Given the description of an element on the screen output the (x, y) to click on. 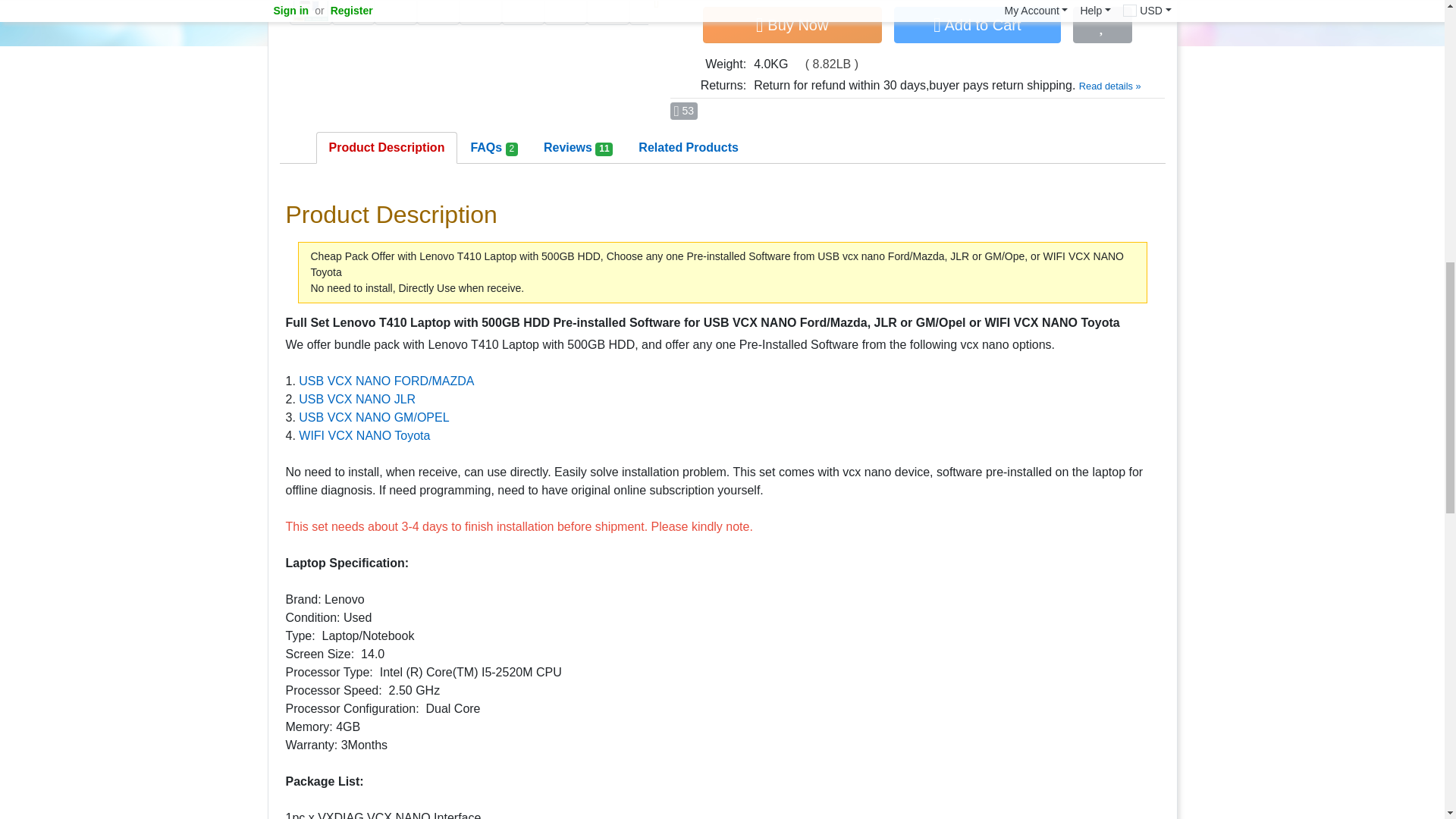
Add to Wish List (1102, 24)
Buy It Now by PayPal (792, 24)
Push Me! (683, 110)
